Given the description of an element on the screen output the (x, y) to click on. 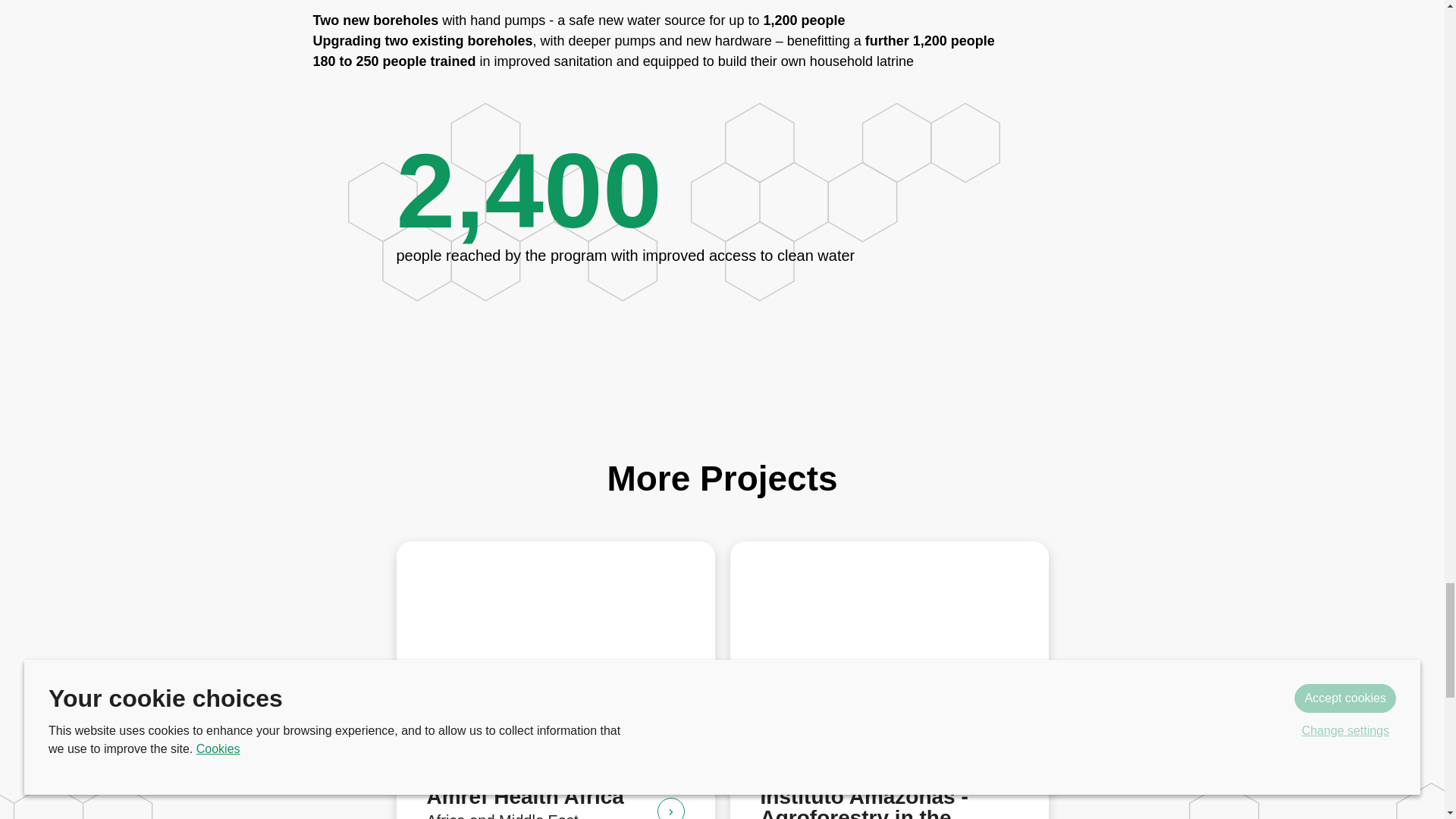
Amref Health Africa (670, 808)
